Given the description of an element on the screen output the (x, y) to click on. 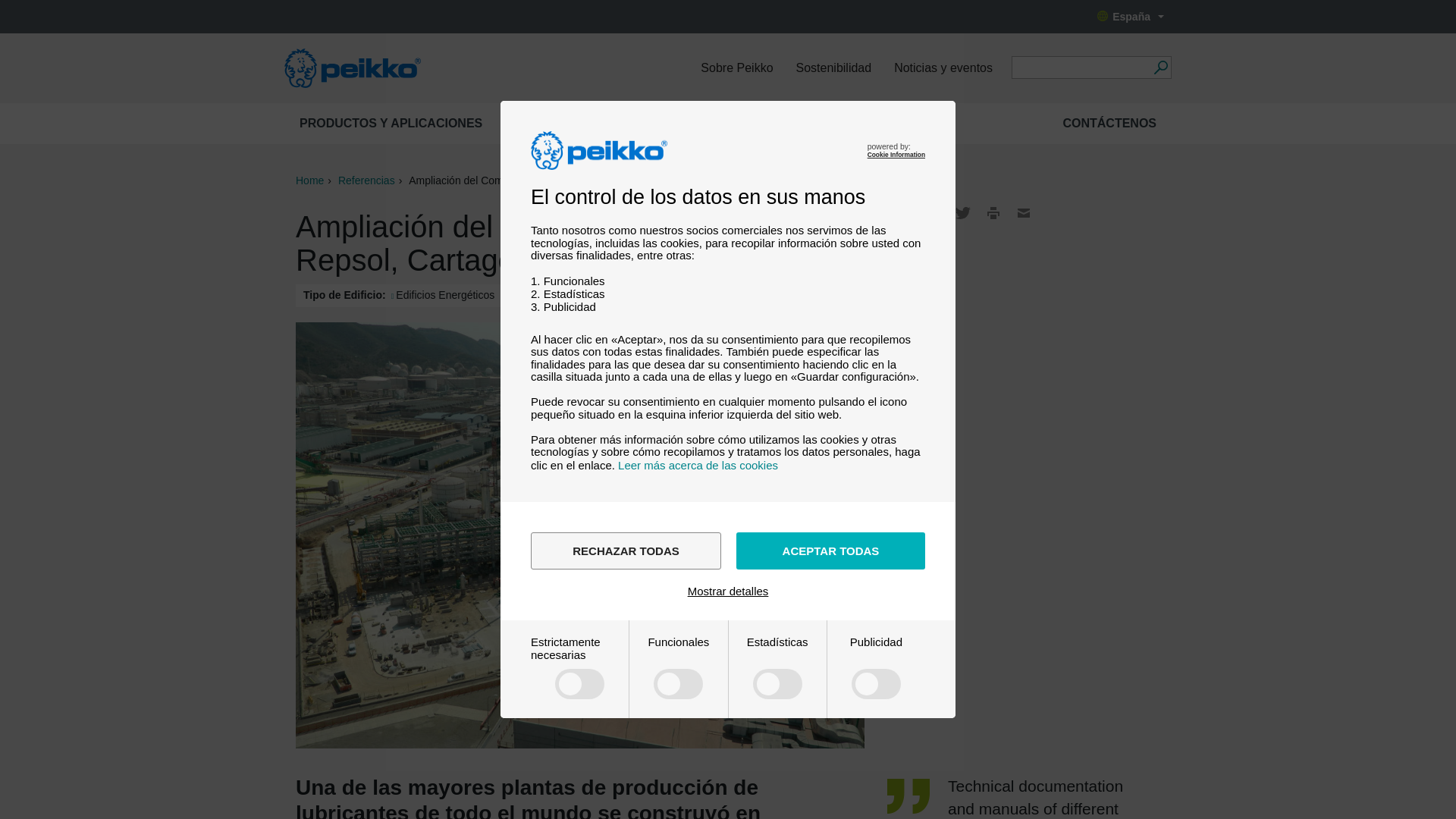
Cookie Information (895, 154)
ACEPTAR TODAS (830, 550)
RECHAZAR TODAS (625, 550)
Mostrar detalles (727, 590)
Email link (1023, 212)
